Given the description of an element on the screen output the (x, y) to click on. 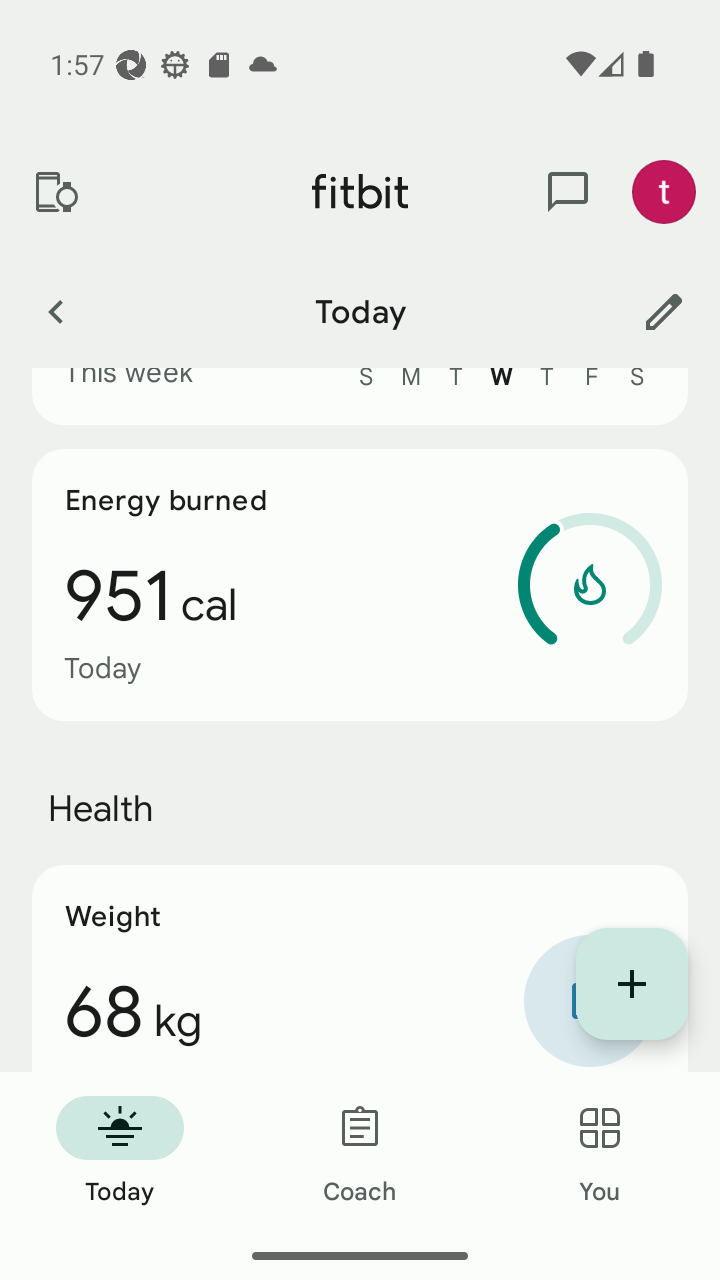
Devices and apps (55, 191)
messages and notifications (567, 191)
Previous Day (55, 311)
Customize (664, 311)
Energy burned 951 cal Today (359, 584)
Weight 68 kg Today Monitor weight scale icon. (359, 968)
Display list of quick log entries (632, 983)
Coach (359, 1151)
You (600, 1151)
